Given the description of an element on the screen output the (x, y) to click on. 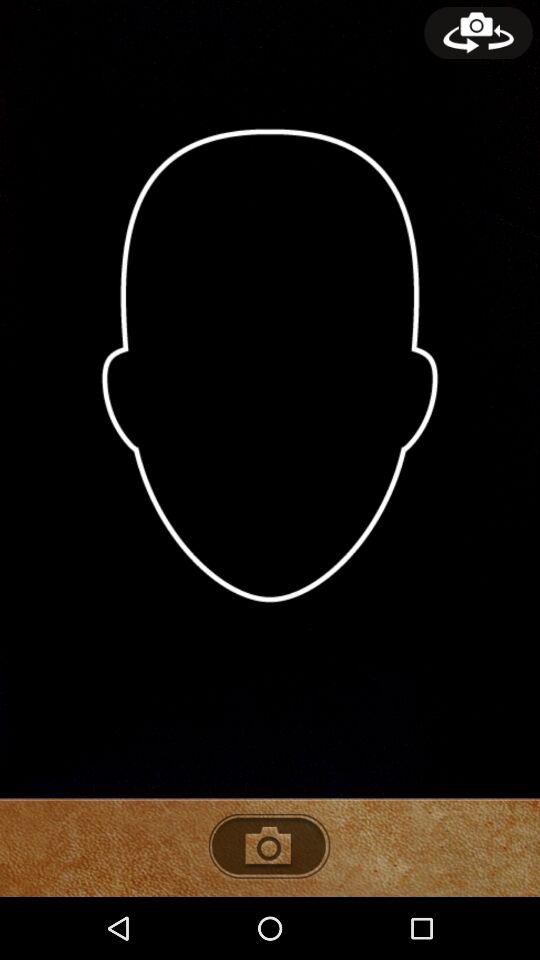
rotate camera (478, 33)
